Given the description of an element on the screen output the (x, y) to click on. 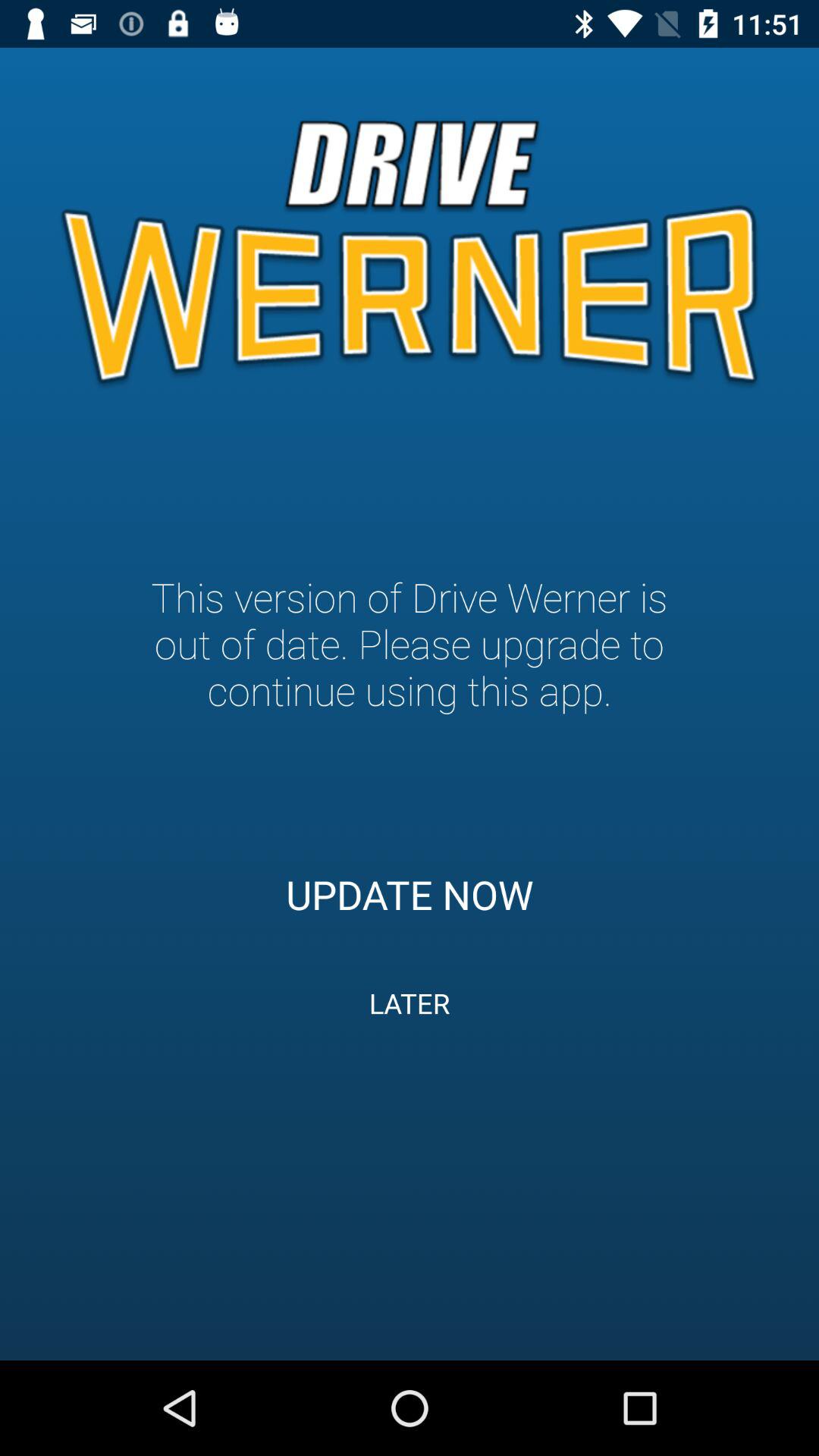
press the icon below the update now icon (409, 1002)
